Given the description of an element on the screen output the (x, y) to click on. 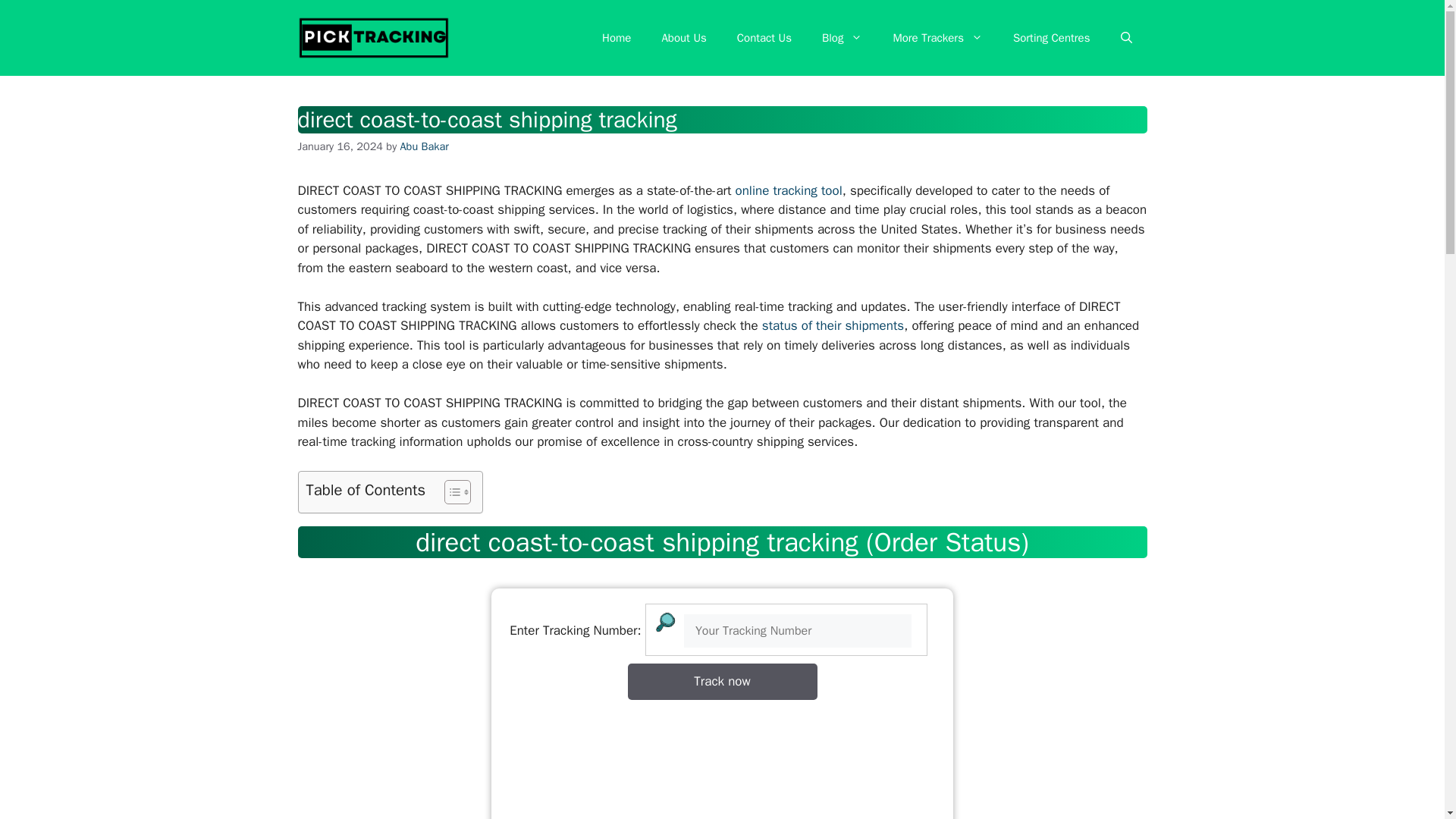
View all posts by Abu Bakar (424, 146)
Abu Bakar (424, 146)
Contact Us (764, 37)
online tracking tool (789, 190)
status of their shipments (832, 325)
Home (616, 37)
Track now (721, 681)
About Us (683, 37)
Sorting Centres (1051, 37)
More Trackers (937, 37)
